Given the description of an element on the screen output the (x, y) to click on. 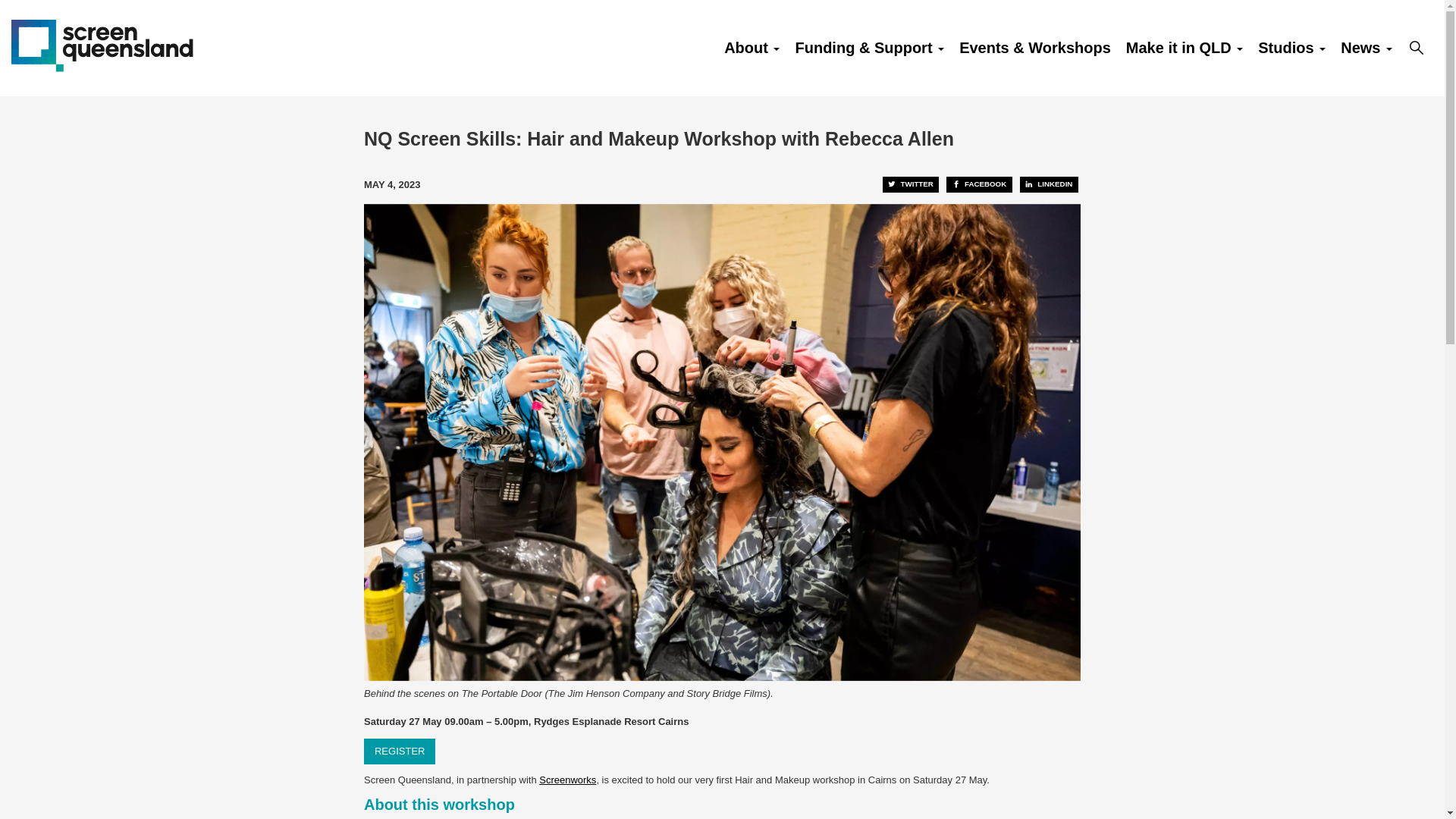
screen queensland (102, 43)
About (751, 47)
Make it in QLD (1184, 47)
About (751, 47)
